Given the description of an element on the screen output the (x, y) to click on. 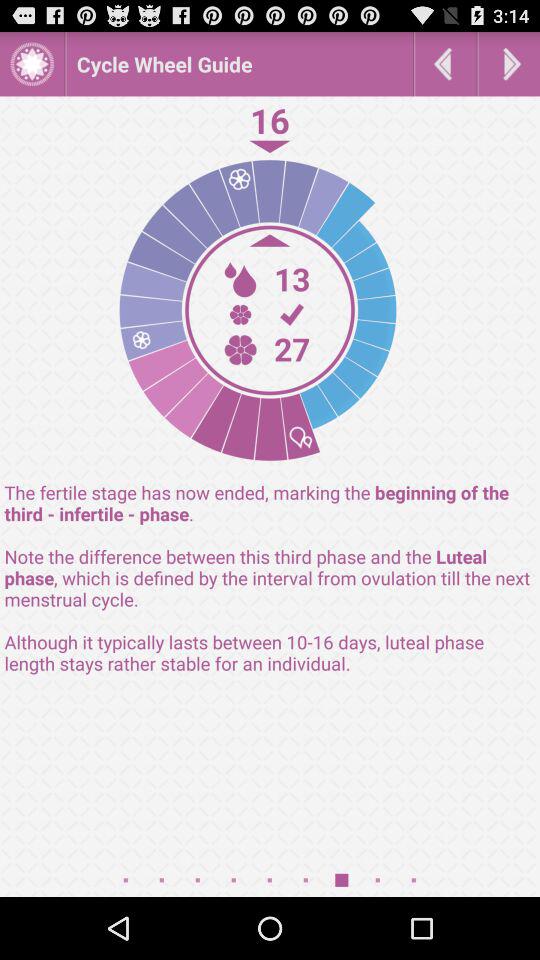
go to search (509, 63)
